Given the description of an element on the screen output the (x, y) to click on. 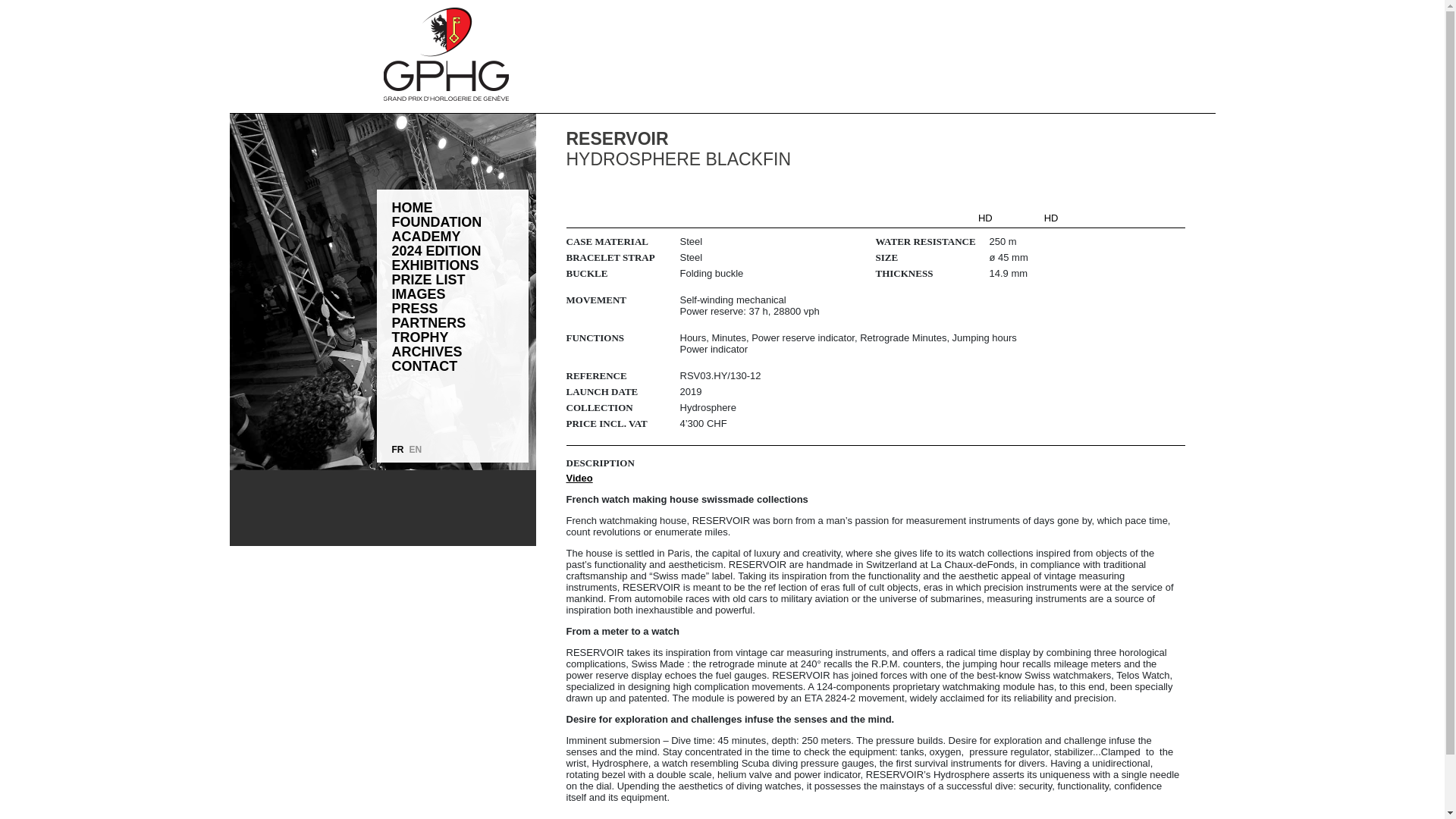
EXHIBITIONS (435, 265)
FR (397, 449)
Video (579, 478)
FOUNDATION (436, 222)
ACADEMY (425, 236)
2024 EDITION (435, 250)
HD (1050, 217)
PRESS (414, 308)
HOME (411, 207)
TROPHY (419, 337)
HD (985, 217)
IMAGES (418, 294)
PARTNERS (428, 323)
ARCHIVES (426, 351)
PRIZE LIST (427, 279)
